Given the description of an element on the screen output the (x, y) to click on. 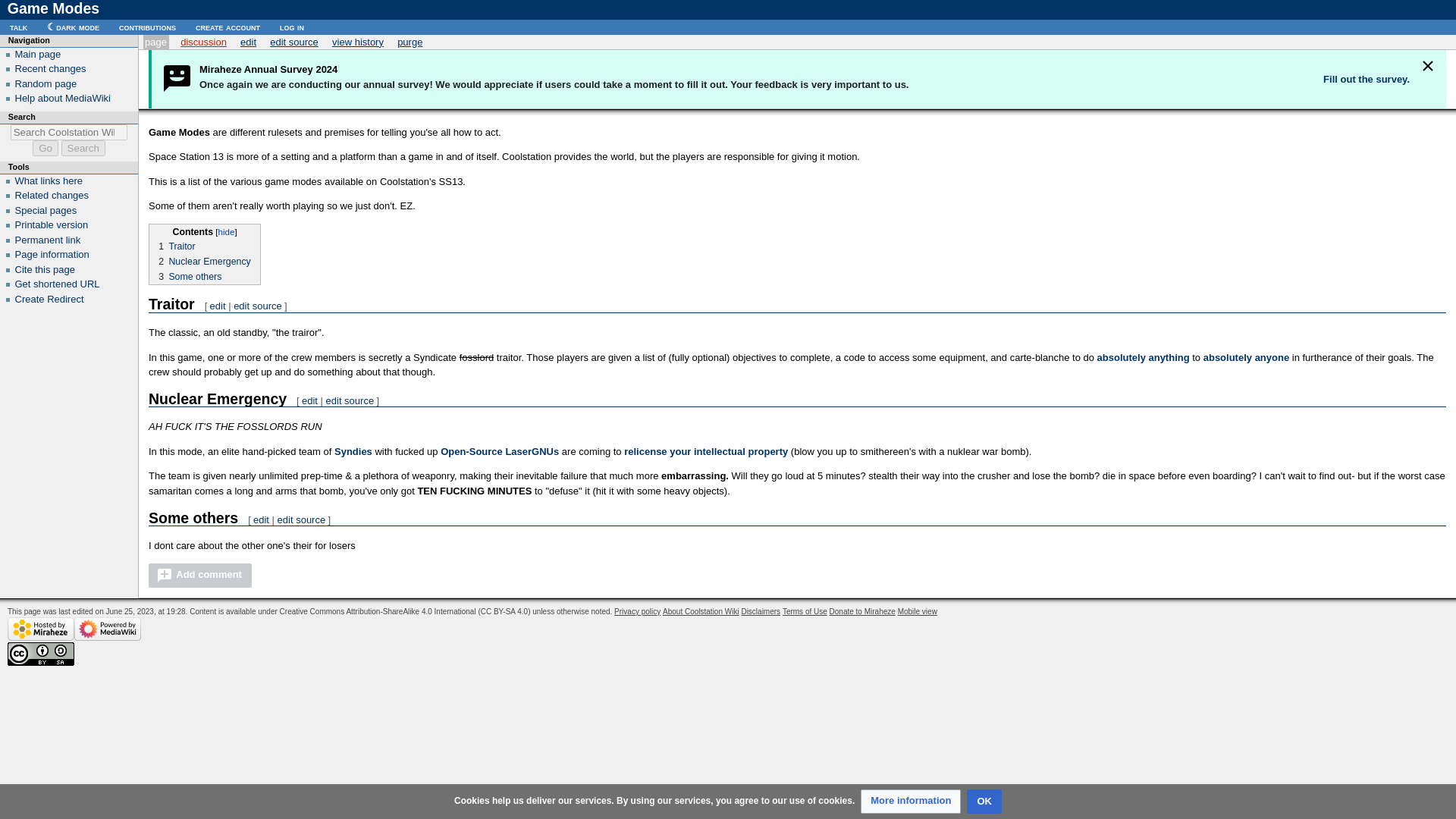
What links here (48, 180)
Clown (1246, 357)
edit (248, 41)
Edit section's source code: Nuclear Emergency (350, 400)
Search (82, 148)
Main page (37, 53)
discussion (203, 41)
Search (82, 148)
Go (45, 148)
Hide (1427, 67)
Go (45, 148)
Edit section's source code: Some others (302, 519)
Help about MediaWiki (62, 98)
Random page (45, 83)
edit (261, 519)
